Given the description of an element on the screen output the (x, y) to click on. 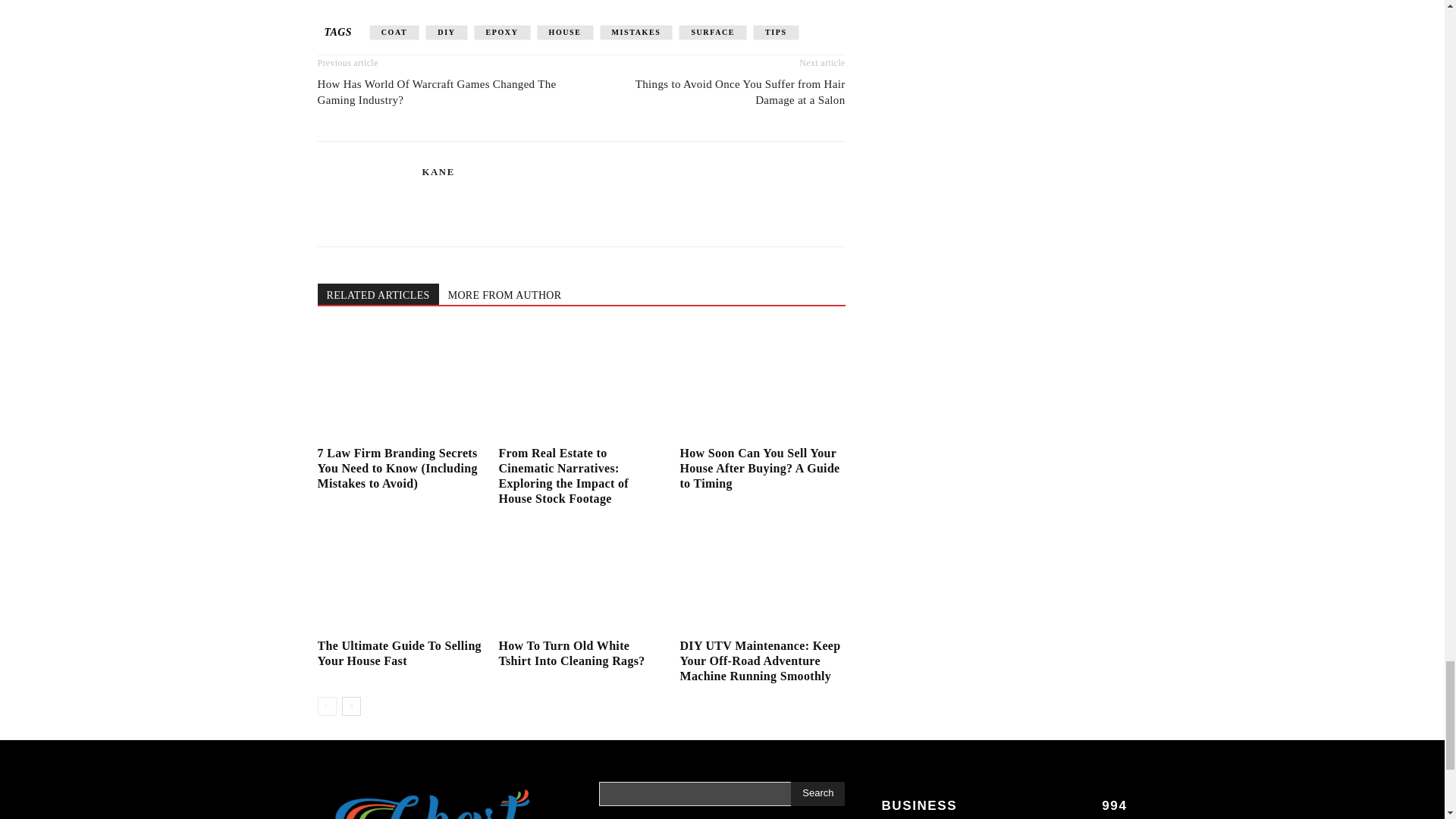
Search (817, 793)
